Given the description of an element on the screen output the (x, y) to click on. 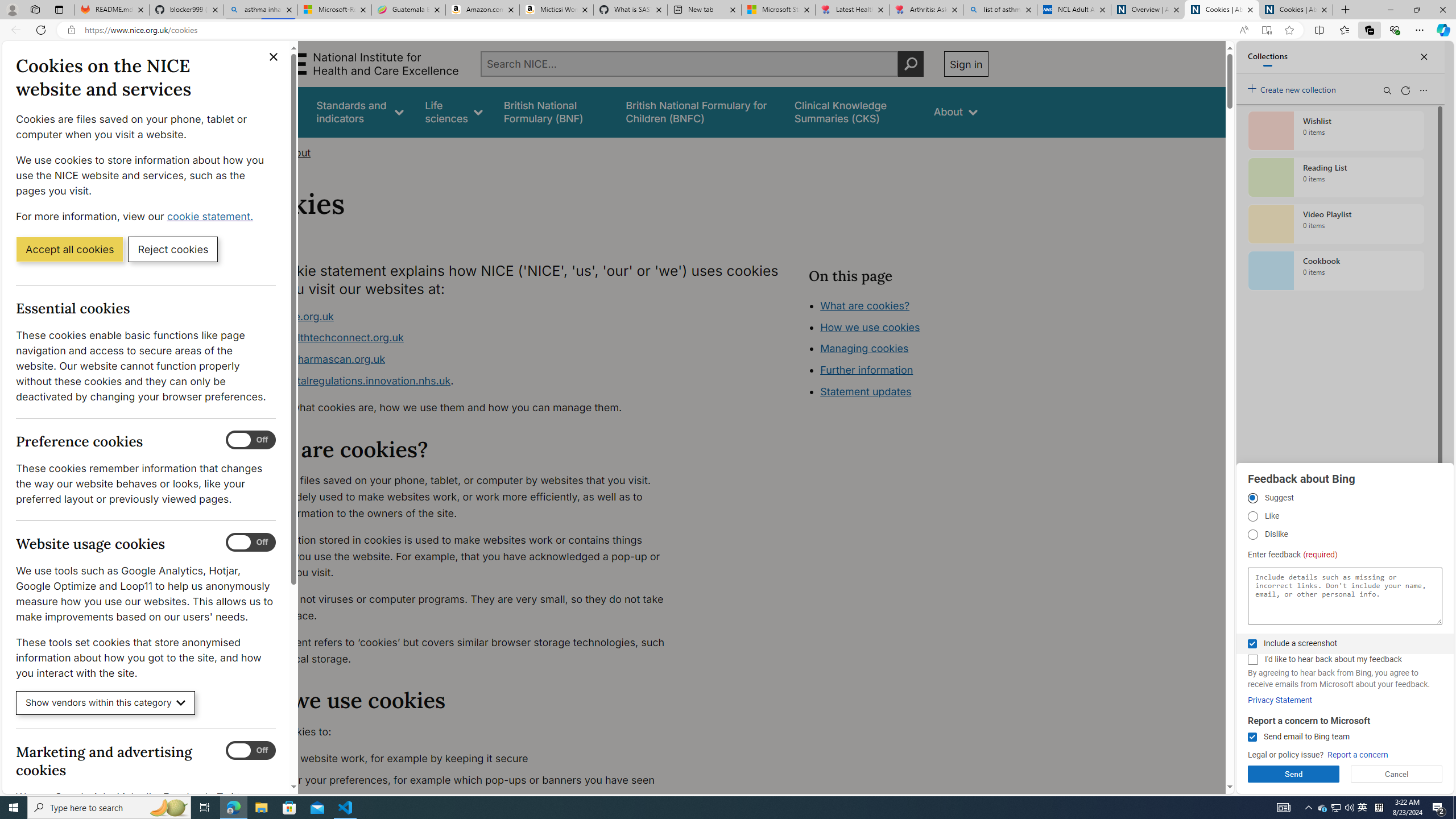
Accept all cookies (69, 248)
Class: in-page-nav__list (898, 349)
Suggest (1252, 498)
